Given the description of an element on the screen output the (x, y) to click on. 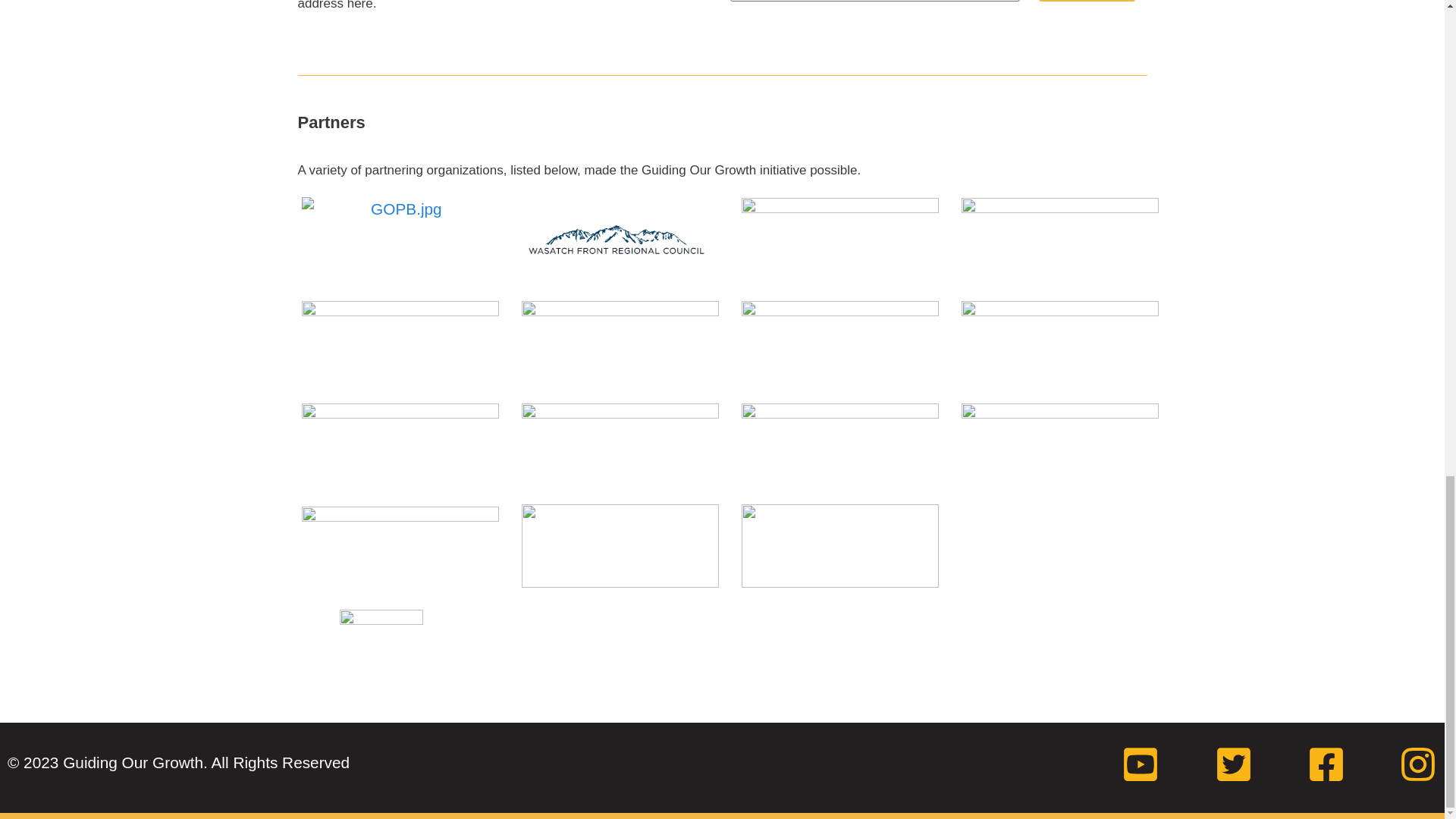
GOPB.jpg (400, 208)
Get Notified (1087, 0)
